Given the description of an element on the screen output the (x, y) to click on. 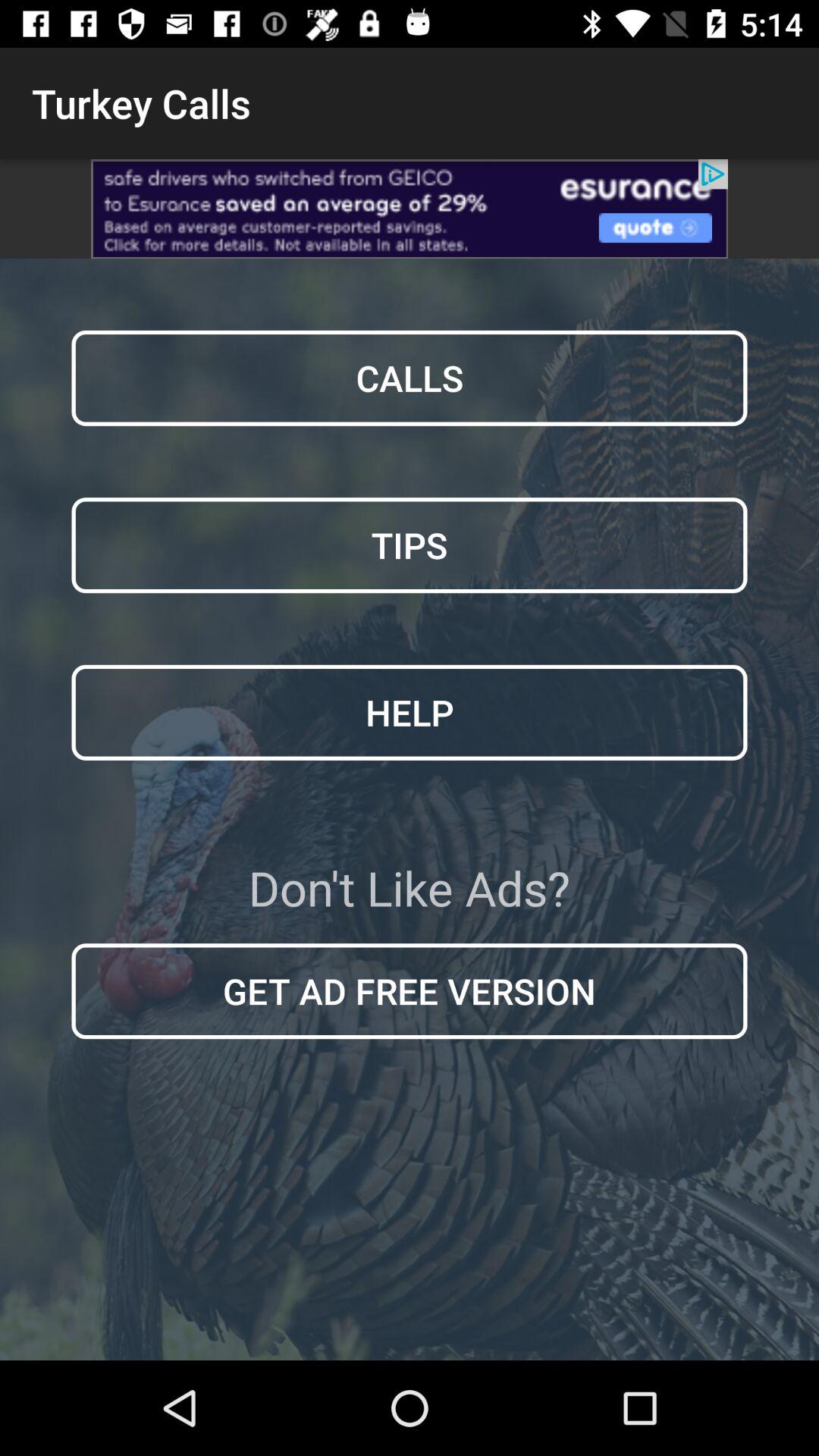
go to advertisement website (409, 208)
